Given the description of an element on the screen output the (x, y) to click on. 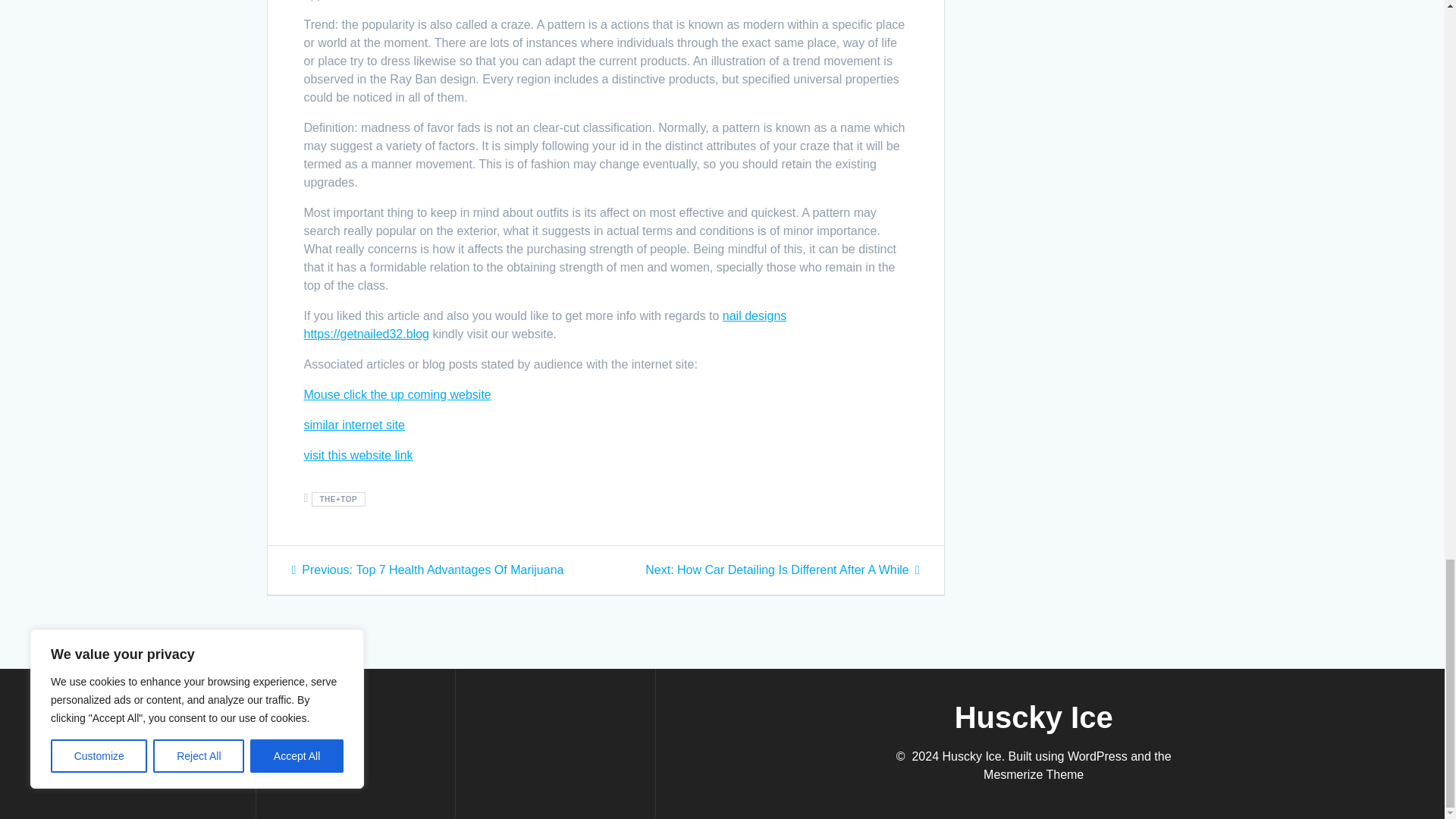
similar internet site (353, 424)
visit this website link (357, 454)
Mouse click the up coming website (396, 394)
